Given the description of an element on the screen output the (x, y) to click on. 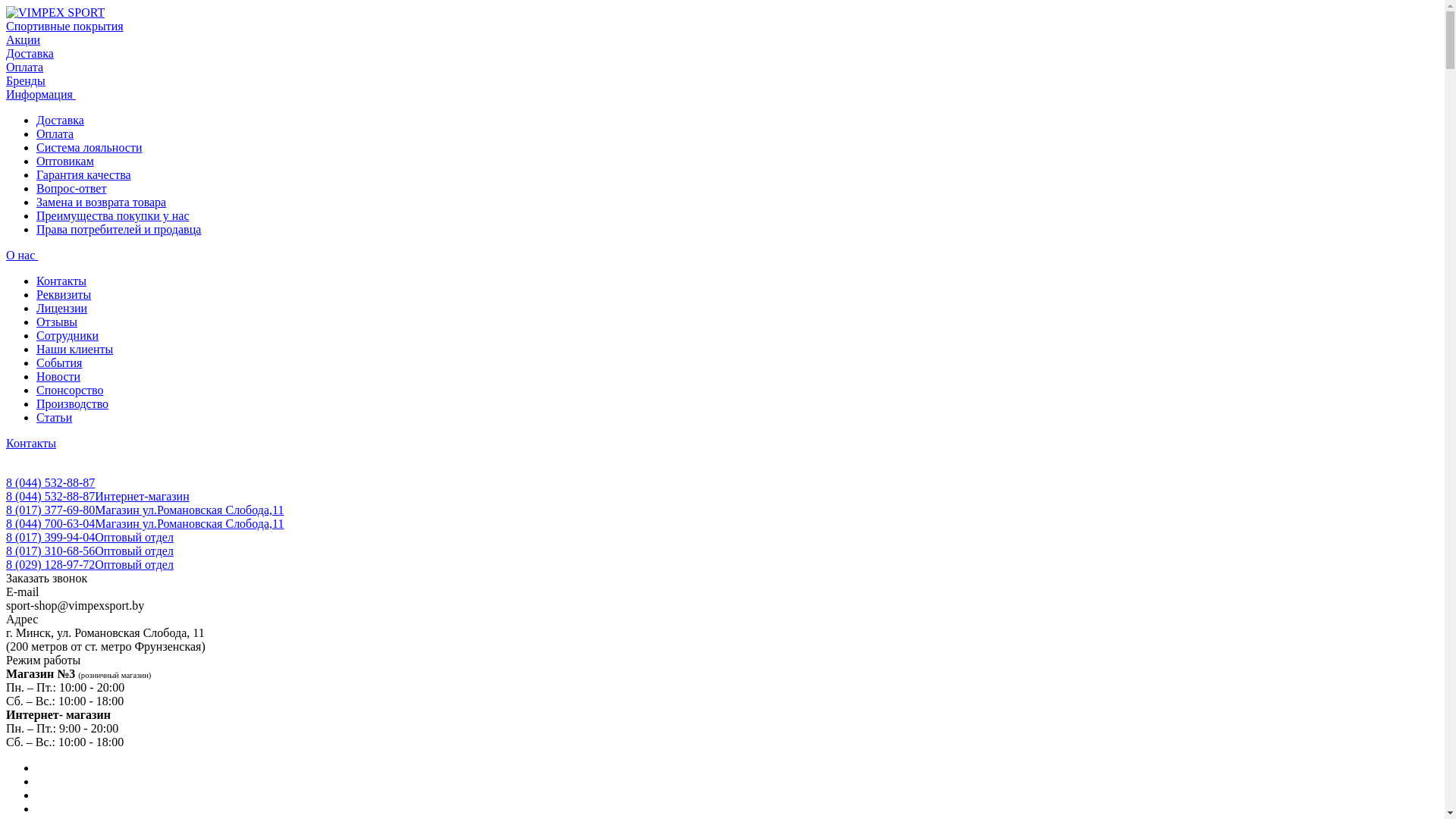
8 (044) 532-88-87 Element type: text (50, 482)
VIMPEX SPORT Element type: hover (55, 12)
